Given the description of an element on the screen output the (x, y) to click on. 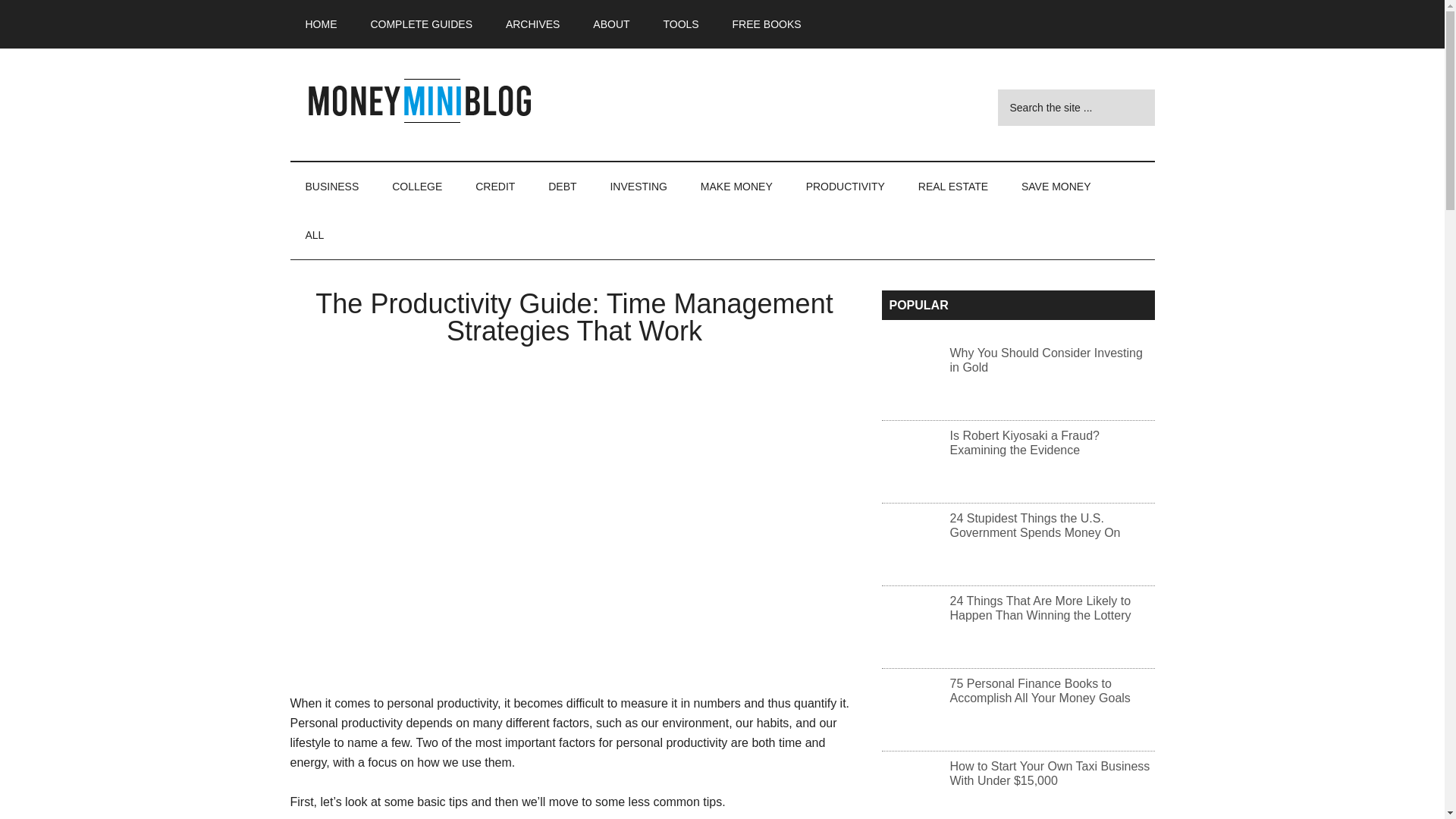
TOOLS (680, 24)
COMPLETE GUIDES (421, 24)
SAVE MONEY (1056, 186)
MAKE MONEY (736, 186)
CREDIT (494, 186)
COLLEGE (417, 186)
REAL ESTATE (952, 186)
PRODUCTIVITY (844, 186)
